Given the description of an element on the screen output the (x, y) to click on. 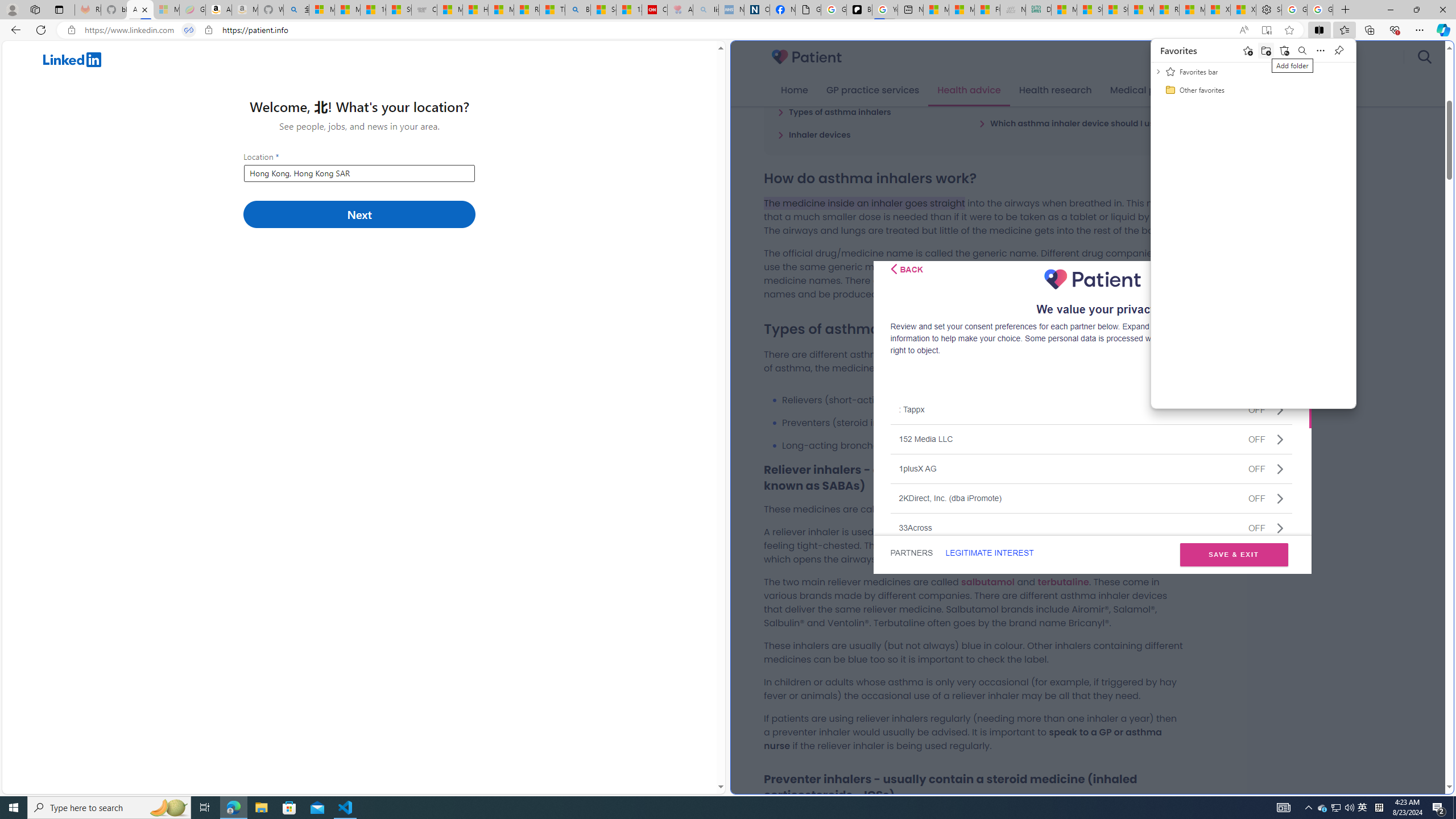
Add folder (1265, 49)
Types of asthma inhalers (834, 111)
terbutaline (1062, 581)
1plusX AGOFF (1090, 468)
Arthritis: Ask Health Professionals - Sleeping (679, 9)
